Given the description of an element on the screen output the (x, y) to click on. 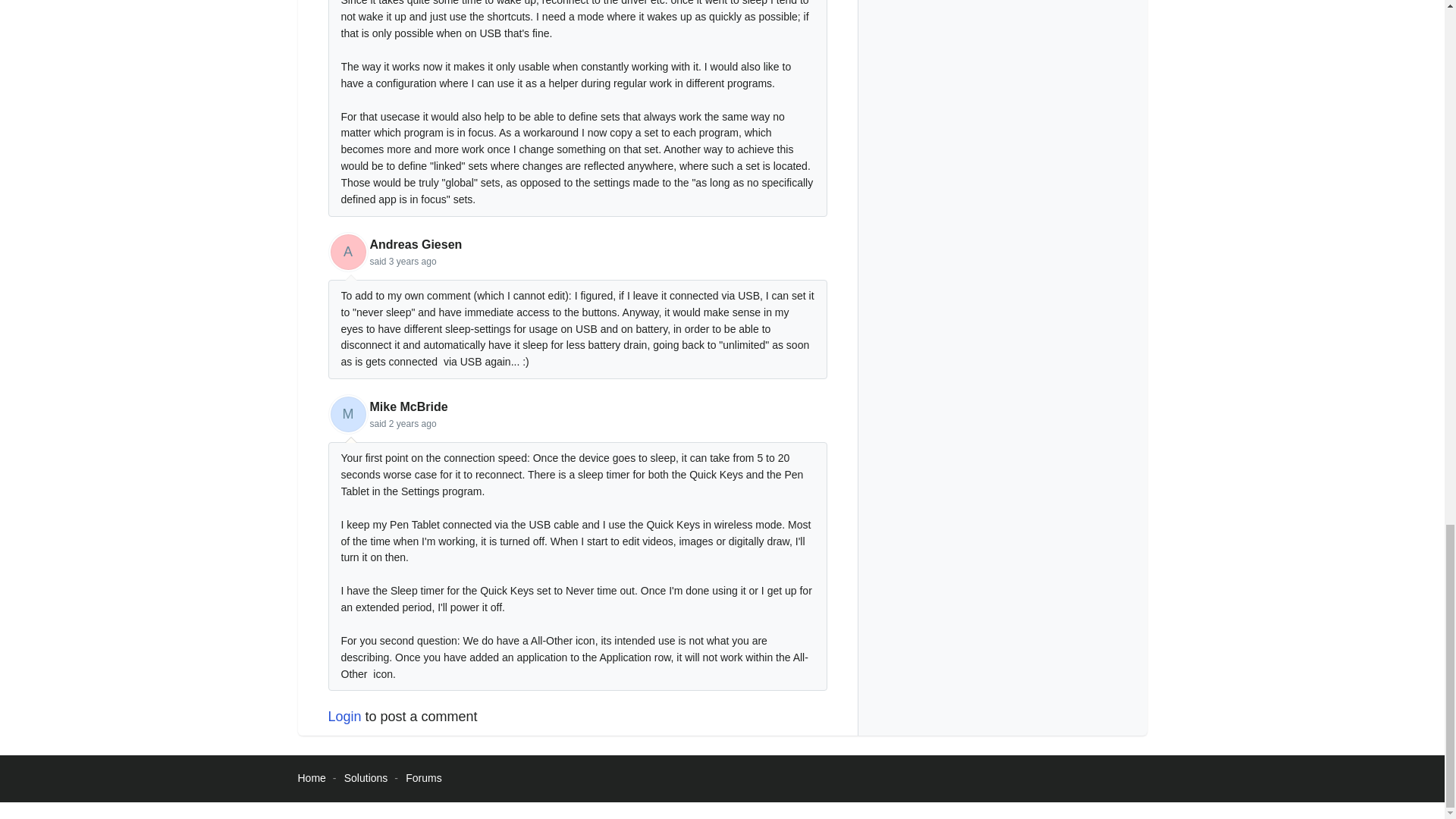
Solutions (365, 777)
Thu, Jan 20, 2022 at  3:53 PM (412, 261)
Home (310, 777)
Tue, Feb 1, 2022 at 12:34 PM (412, 423)
Login (344, 716)
Forums (423, 777)
